Given the description of an element on the screen output the (x, y) to click on. 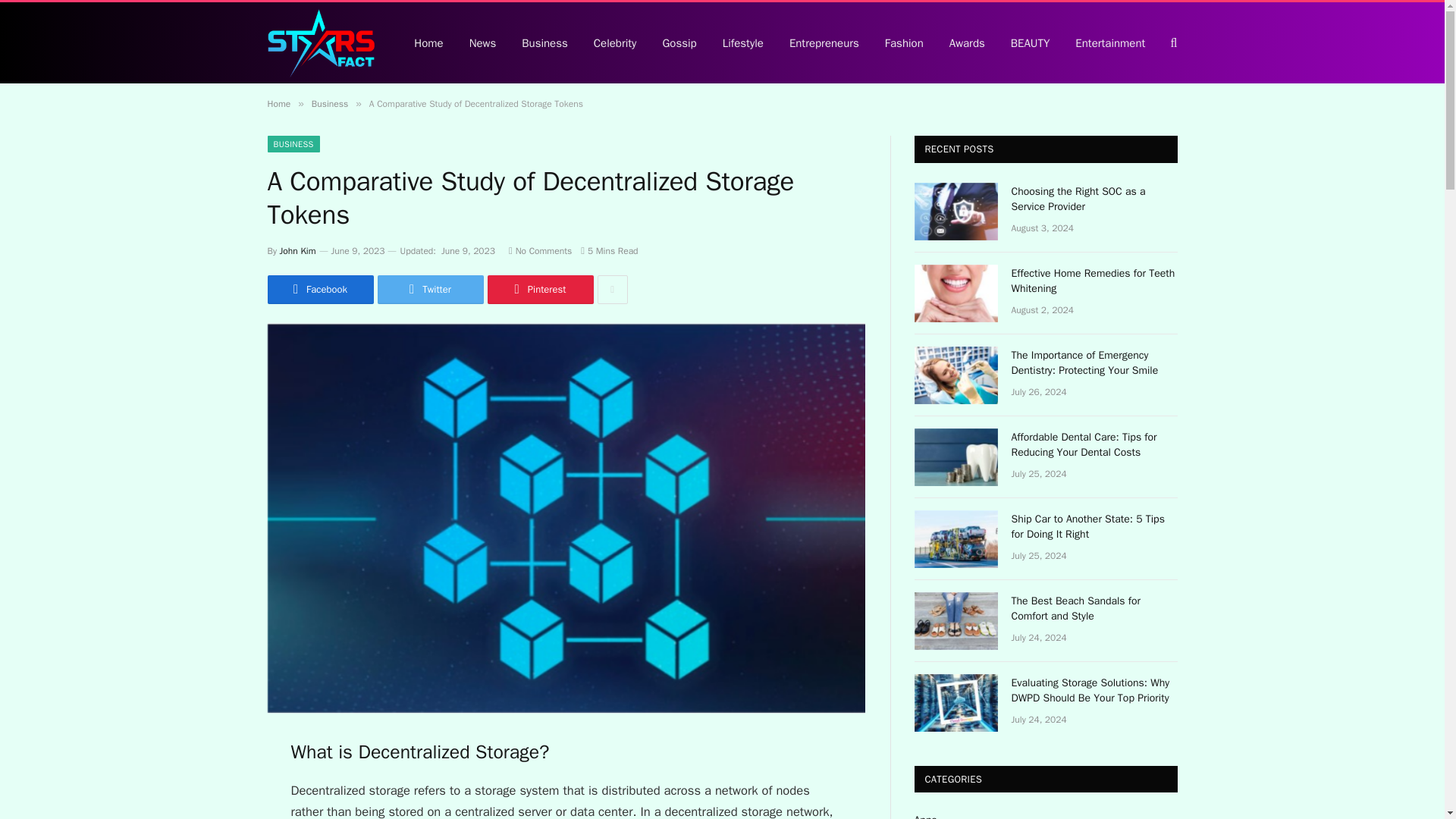
Stars Fact (320, 43)
Share on Pinterest (539, 289)
Entrepreneurs (824, 42)
Share on Facebook (319, 289)
BUSINESS (292, 143)
No Comments (540, 250)
Show More Social Sharing (611, 289)
John Kim (297, 250)
Business (329, 103)
Pinterest (539, 289)
